Given the description of an element on the screen output the (x, y) to click on. 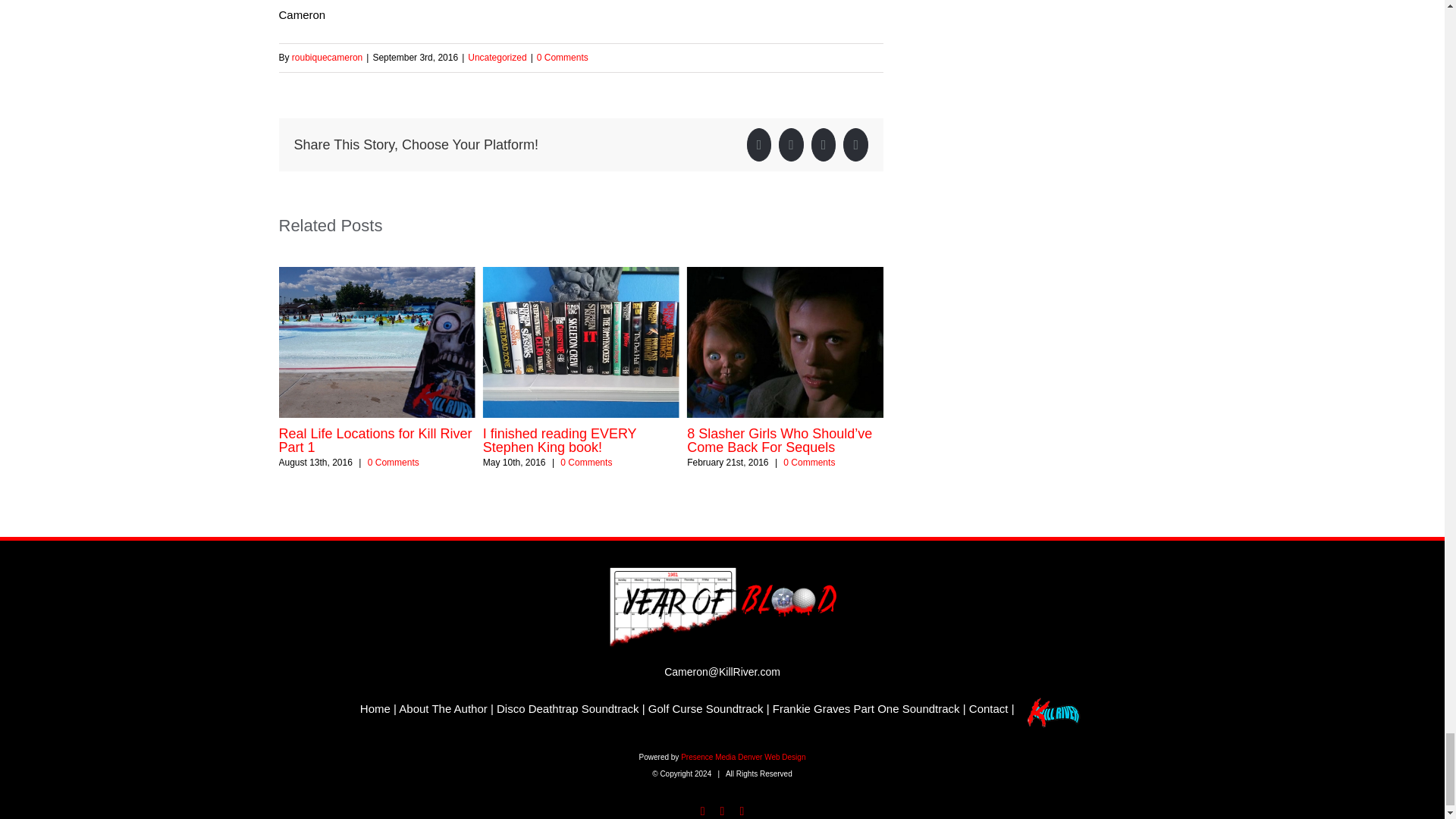
Uncategorized (496, 57)
Real Life Locations for Kill River Part 1 (374, 440)
roubiquecameron (327, 57)
Posts by roubiquecameron (327, 57)
0 Comments (562, 57)
I finished reading EVERY Stephen King book! (559, 440)
